Given the description of an element on the screen output the (x, y) to click on. 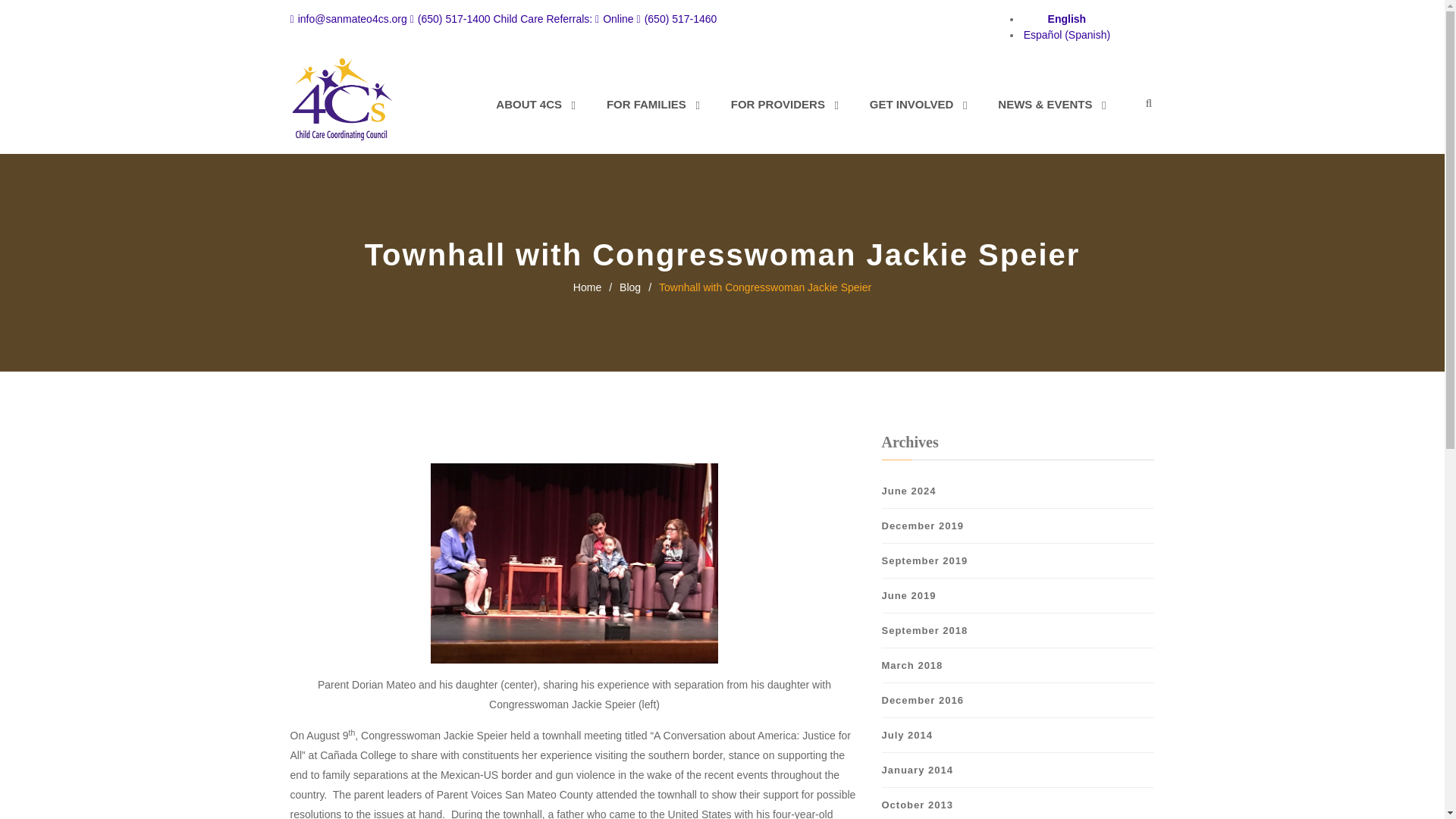
GET INVOLVED (912, 104)
FOR FAMILIES (646, 104)
English (1067, 18)
4Cs of San Mateo County (342, 99)
FOR PROVIDERS (777, 104)
ABOUT 4CS (535, 104)
Online (614, 19)
